Given the description of an element on the screen output the (x, y) to click on. 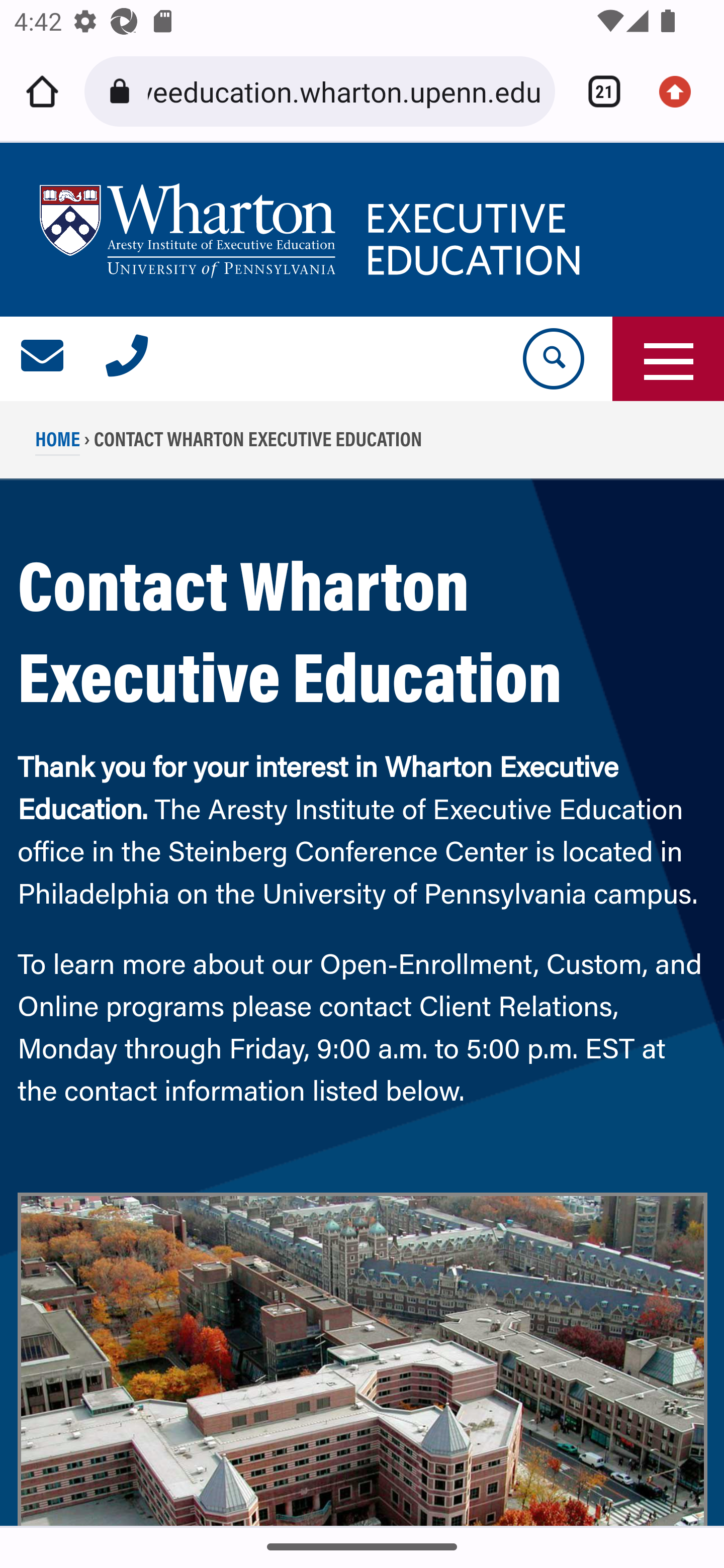
Home (42, 91)
Connection is secure (122, 91)
Switch or close tabs (597, 91)
Update available. More options (681, 91)
executiveeducation.wharton.upenn.edu/contact-us/ (343, 90)
Wharton Executive Education (313, 230)
 (43, 358)
 (127, 358)
Mobile menu toggle (668, 358)
 Search Wharton  (552, 358)
HOME (58, 444)
